Given the description of an element on the screen output the (x, y) to click on. 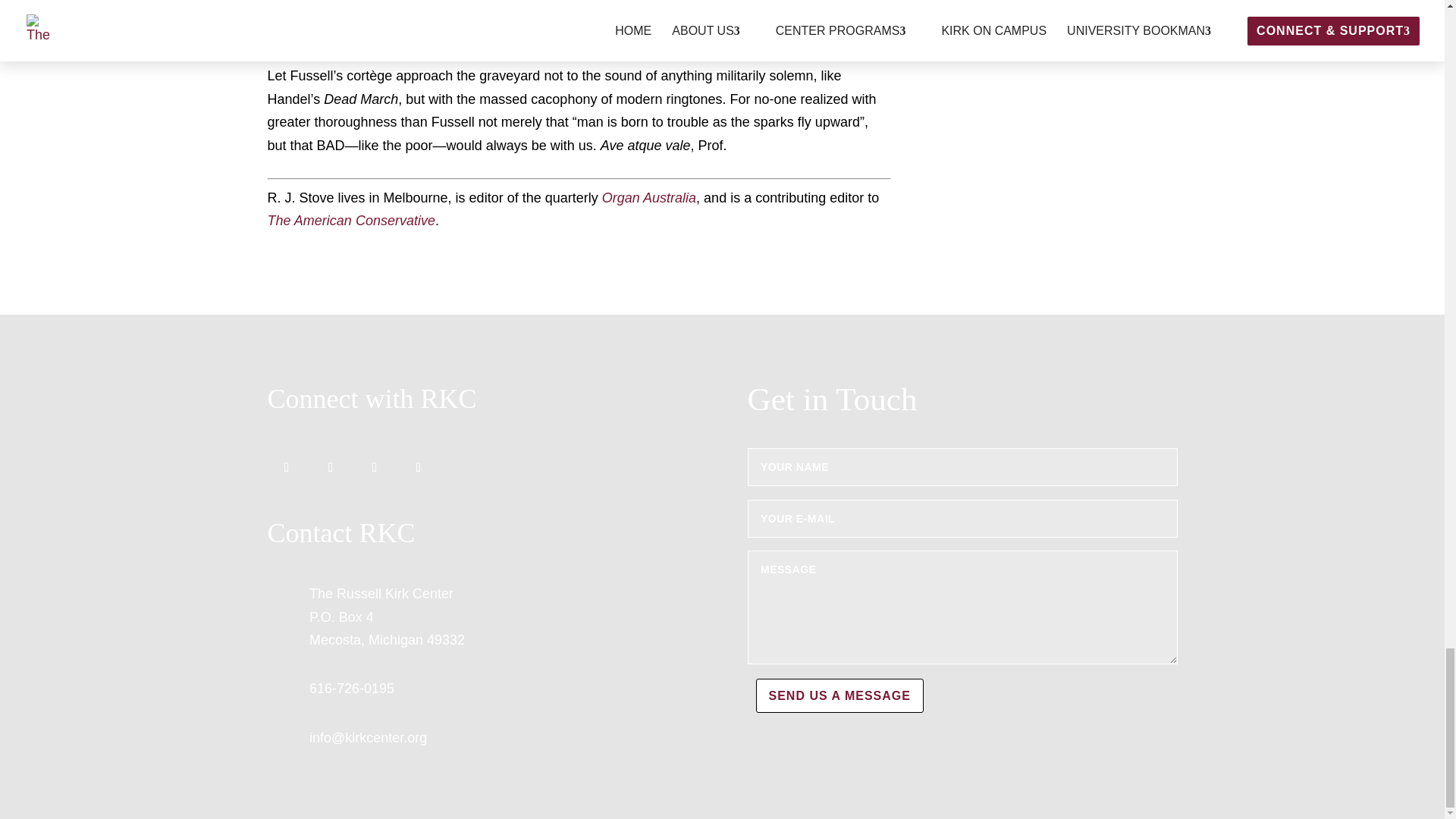
Follow on Facebook (285, 466)
Follow on Twitter (330, 466)
Follow on Youtube (417, 466)
Organ Australia (648, 197)
Follow on Instagram (374, 466)
